Given the description of an element on the screen output the (x, y) to click on. 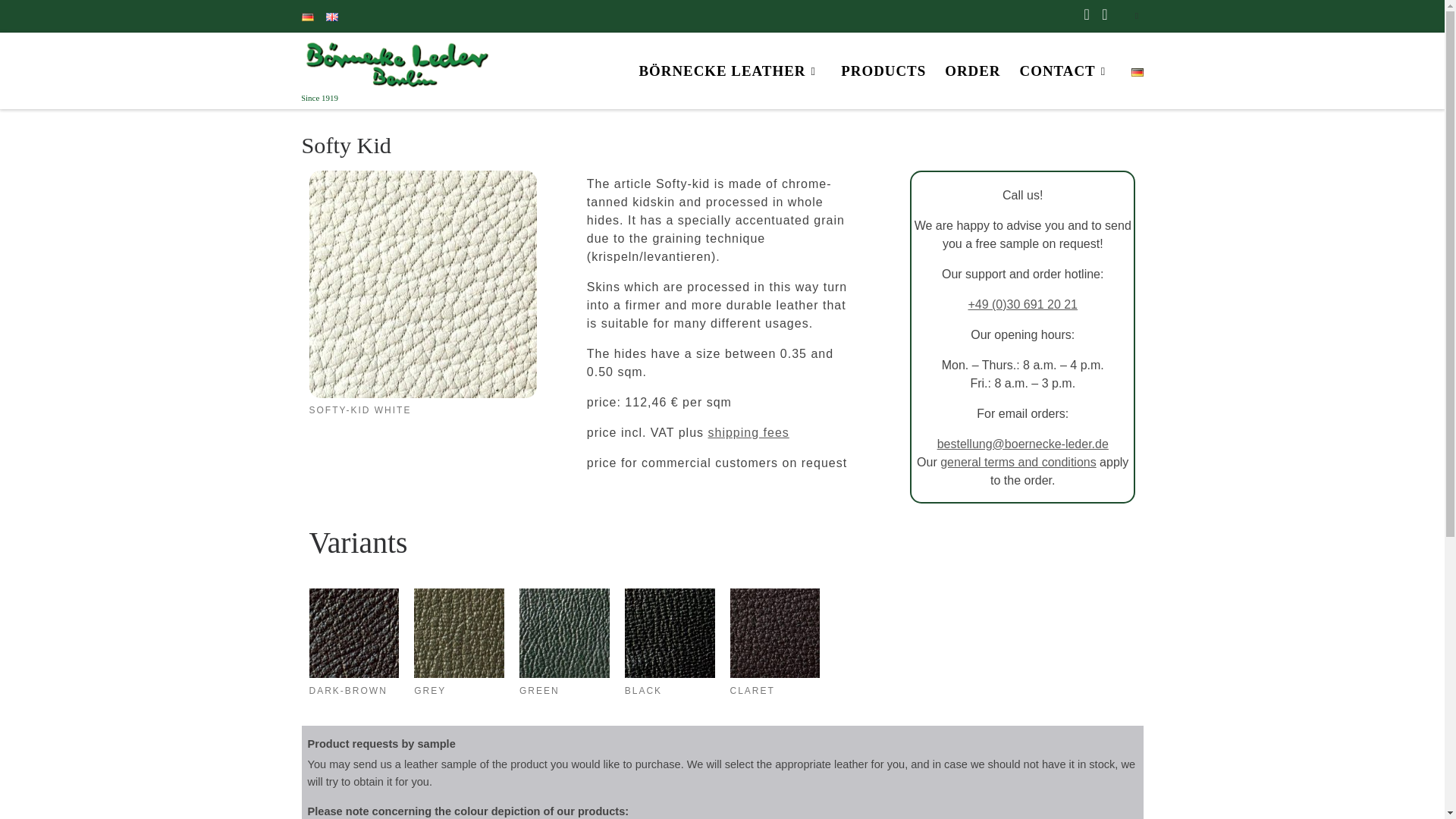
shipping fees (748, 431)
PRODUCTS (883, 70)
Search (1136, 15)
ORDER (973, 70)
CONTACT (1065, 70)
